Given the description of an element on the screen output the (x, y) to click on. 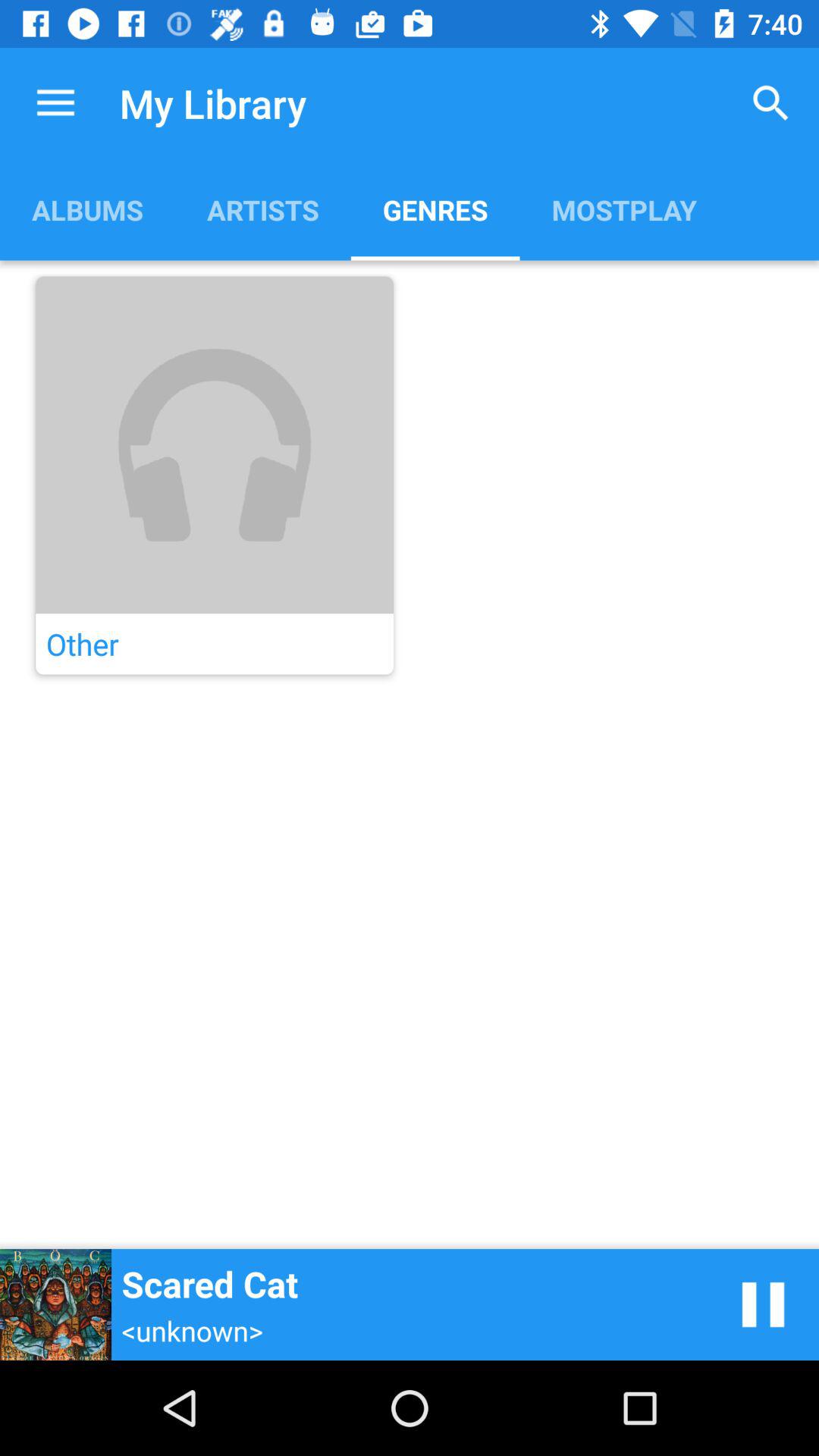
turn off the item below the my library item (262, 209)
